Given the description of an element on the screen output the (x, y) to click on. 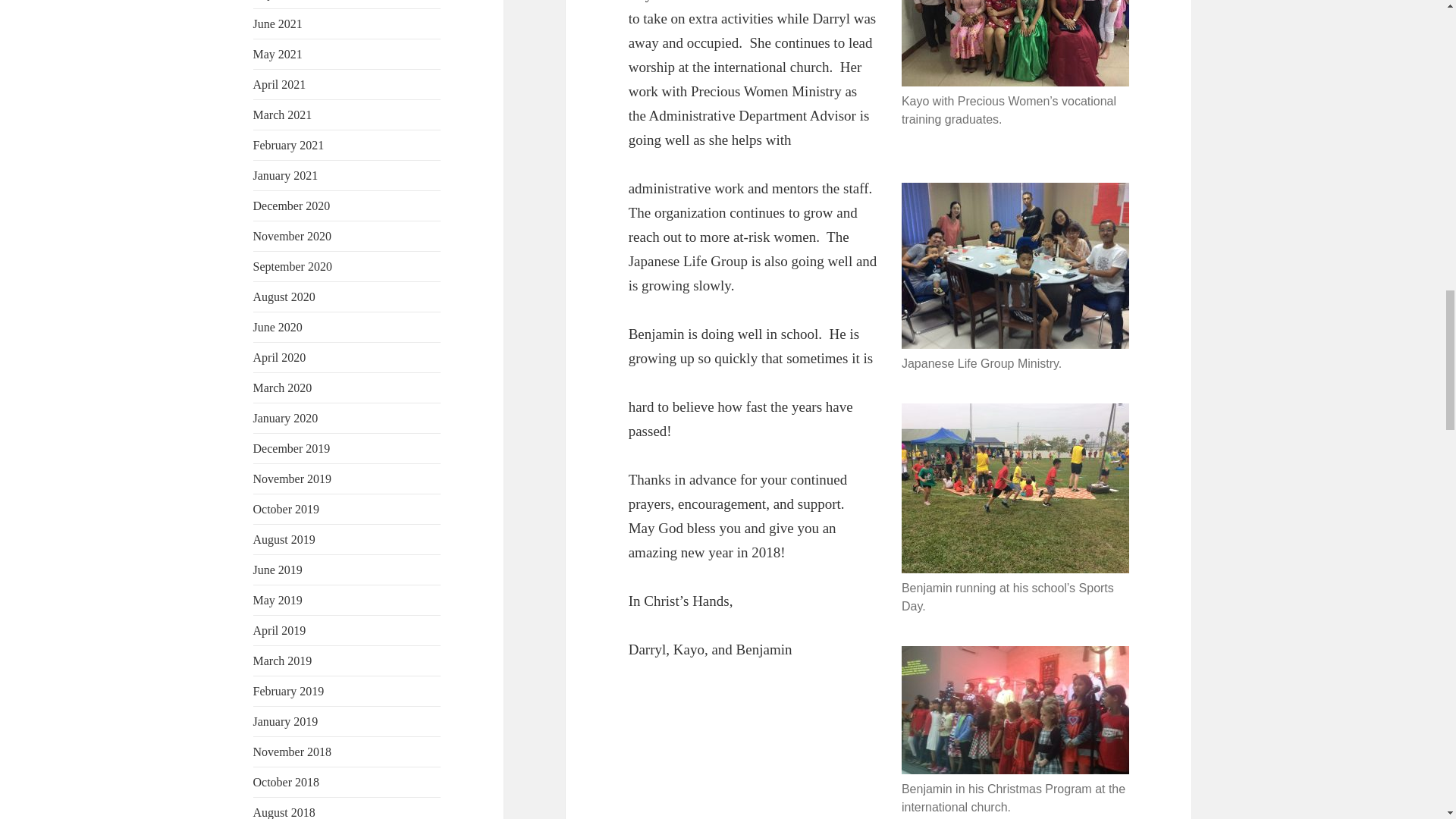
June 2021 (277, 23)
May 2021 (277, 53)
